Given the description of an element on the screen output the (x, y) to click on. 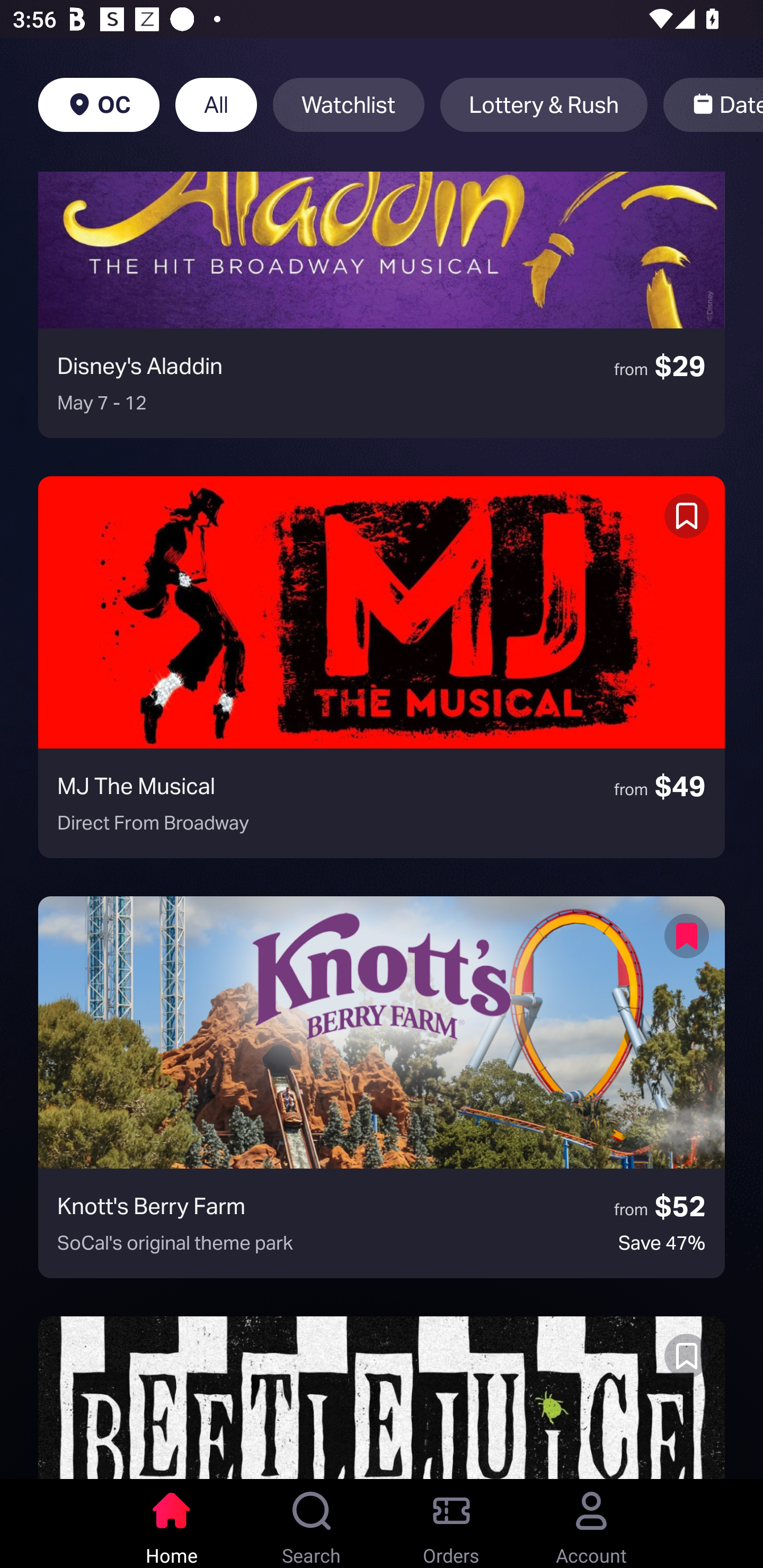
OC (98, 104)
All (216, 104)
Watchlist (348, 104)
Lottery & Rush (543, 104)
Disney's Aladdin from $29 May 7 - 12 (381, 303)
MJ The Musical from $49 Direct From Broadway (381, 666)
Search (311, 1523)
Orders (451, 1523)
Account (591, 1523)
